Given the description of an element on the screen output the (x, y) to click on. 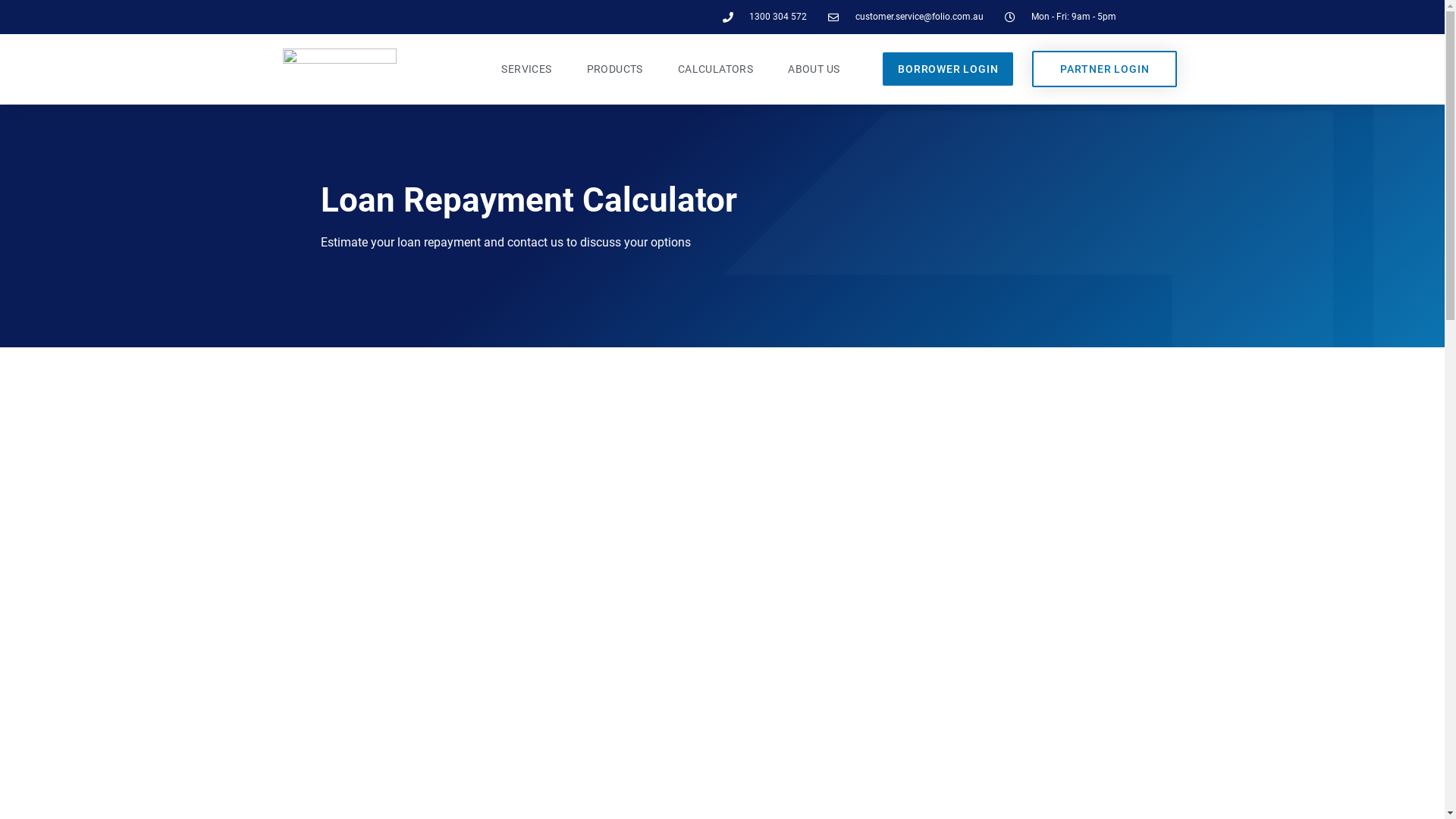
customer.service@folio.com.au Element type: text (905, 17)
PARTNER LOGIN Element type: text (1104, 68)
BORROWER LOGIN Element type: text (947, 68)
1300 304 572 Element type: text (763, 17)
CALCULATORS Element type: text (715, 68)
SERVICES Element type: text (526, 68)
PRODUCTS Element type: text (614, 68)
ABOUT US Element type: text (813, 68)
